Given the description of an element on the screen output the (x, y) to click on. 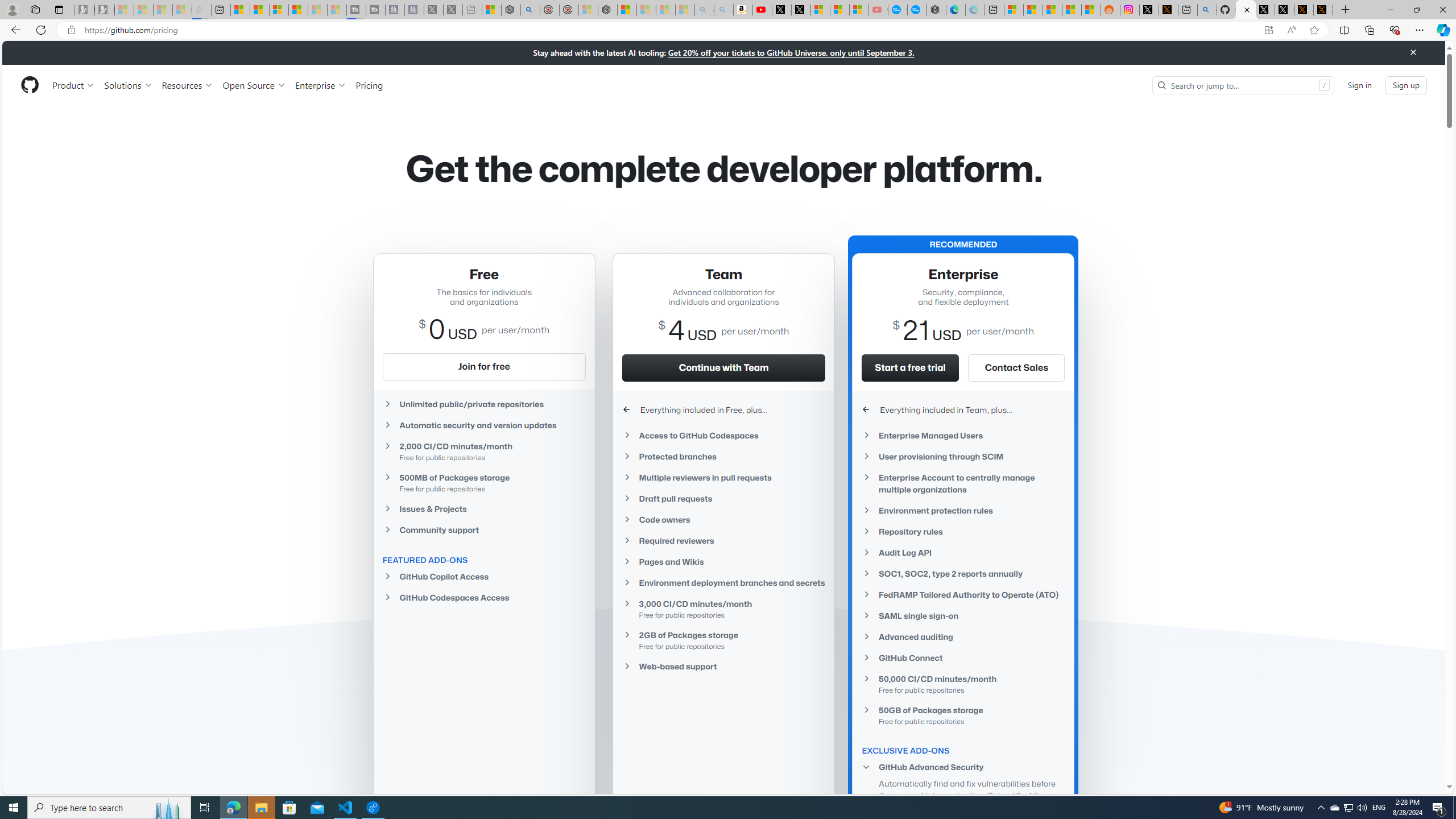
Multiple reviewers in pull requests (723, 477)
Product (74, 84)
Resources (187, 84)
User provisioning through SCIM (963, 456)
Pages and Wikis (723, 561)
GitHub Copilot Access (483, 576)
3,000 CI/CD minutes/monthFree for public repositories (723, 608)
2GB of Packages storage Free for public repositories (723, 640)
Enterprise (319, 84)
Issues & Projects (483, 508)
500MB of Packages storage Free for public repositories (483, 482)
